Given the description of an element on the screen output the (x, y) to click on. 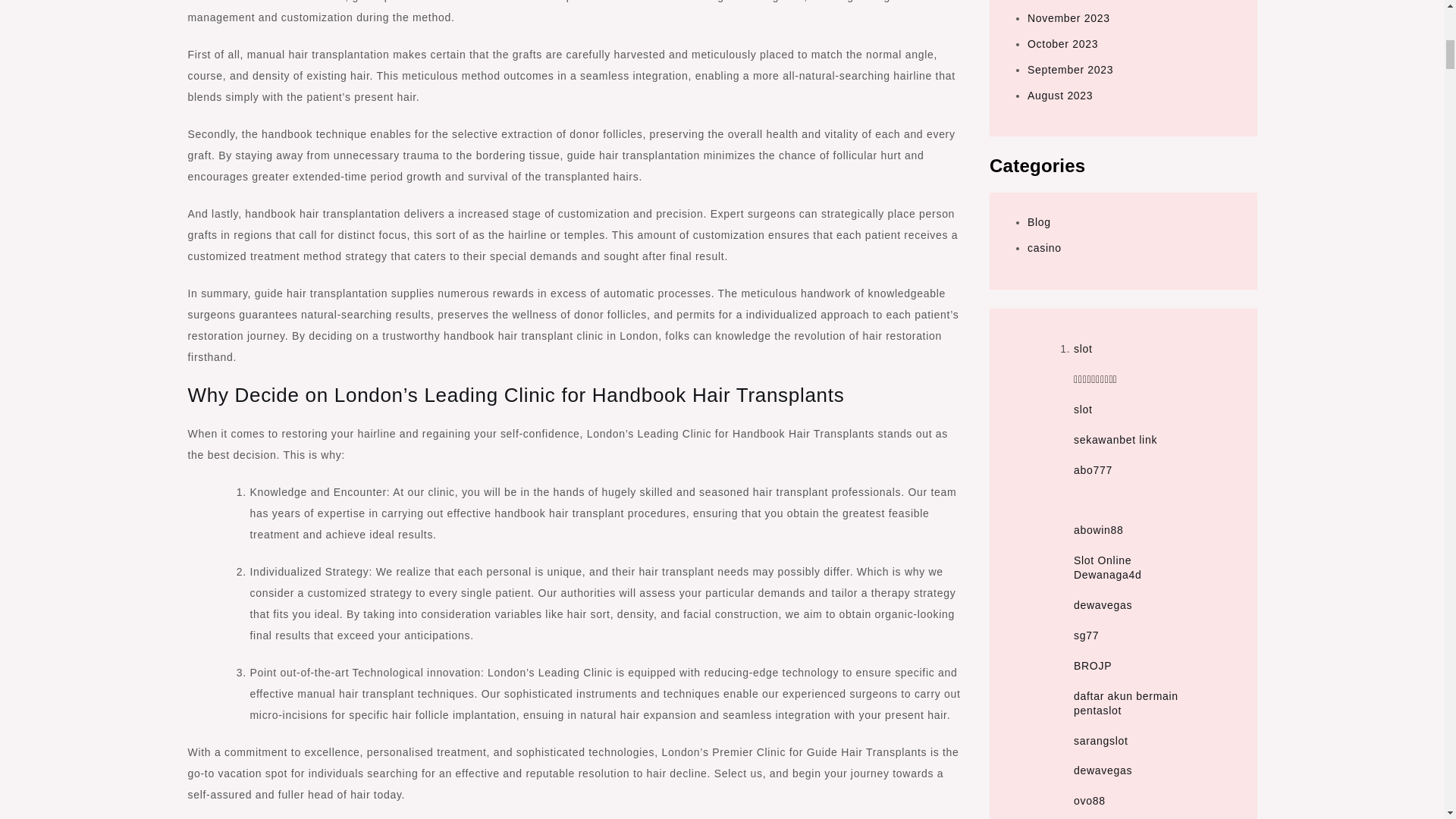
abo777 (1093, 469)
abowin88 (1099, 530)
Blog (1039, 222)
casino (1044, 247)
slot (1083, 348)
August 2023 (1060, 95)
September 2023 (1070, 69)
November 2023 (1068, 18)
slot (1083, 409)
sekawanbet link (1115, 439)
October 2023 (1062, 43)
